Given the description of an element on the screen output the (x, y) to click on. 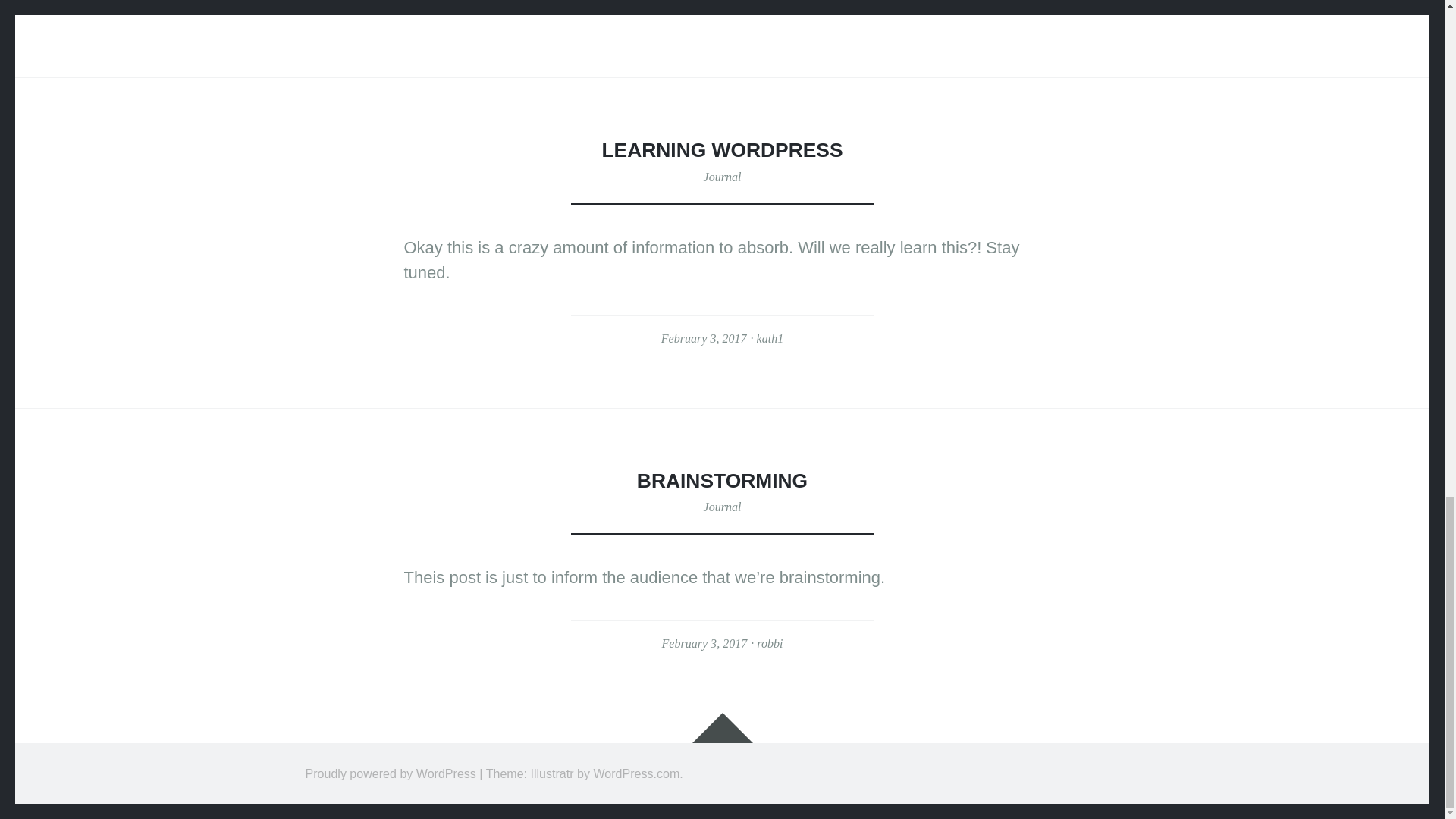
kath1 (770, 7)
Widgets (721, 727)
February 3, 2017 (703, 643)
kath1 (770, 338)
robbi (770, 643)
LEARNING WORDPRESS (722, 149)
Journal (722, 506)
February 3, 2017 (703, 338)
February 8, 2017 (703, 7)
Journal (722, 176)
